Given the description of an element on the screen output the (x, y) to click on. 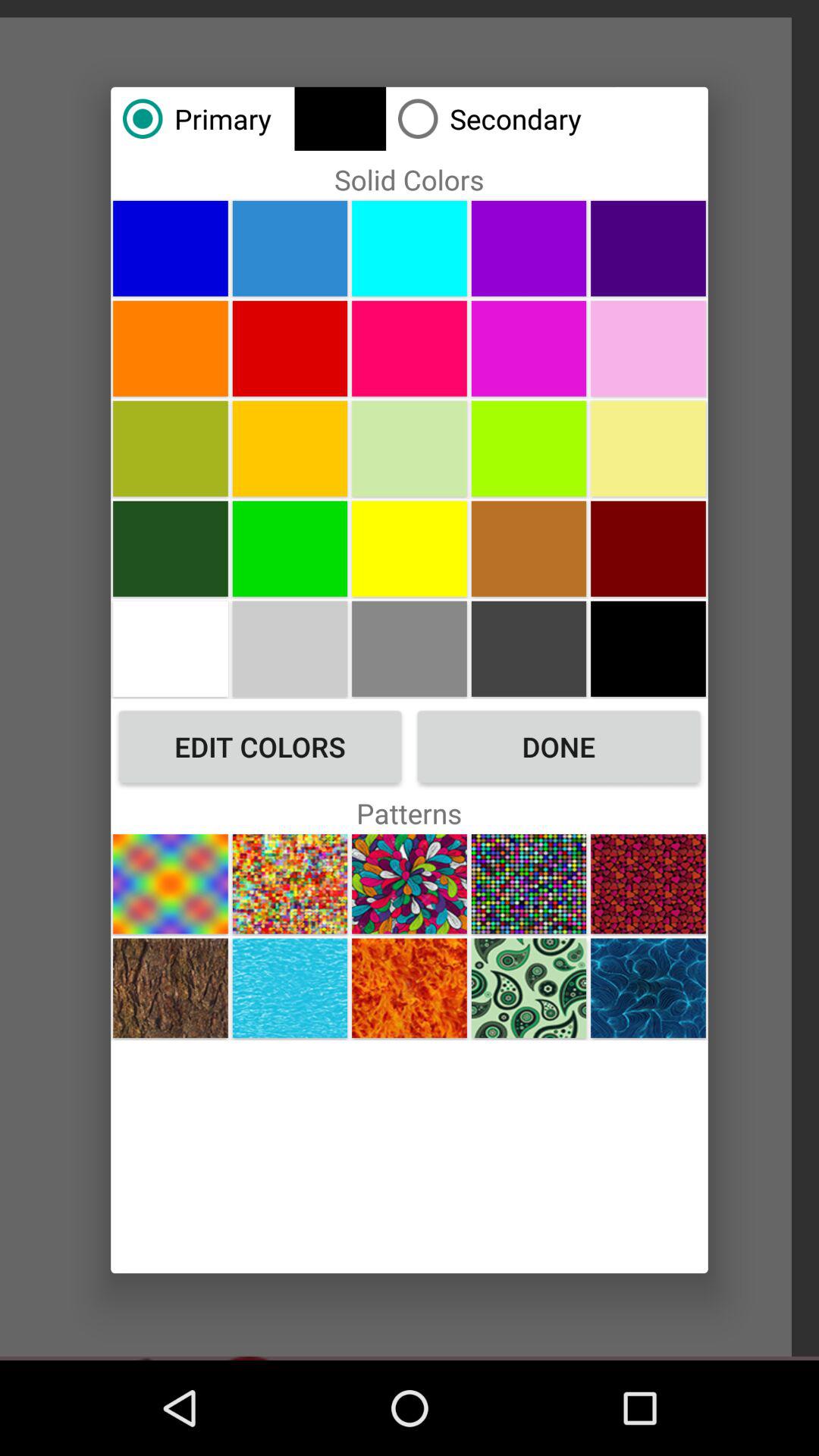
select color (170, 648)
